Given the description of an element on the screen output the (x, y) to click on. 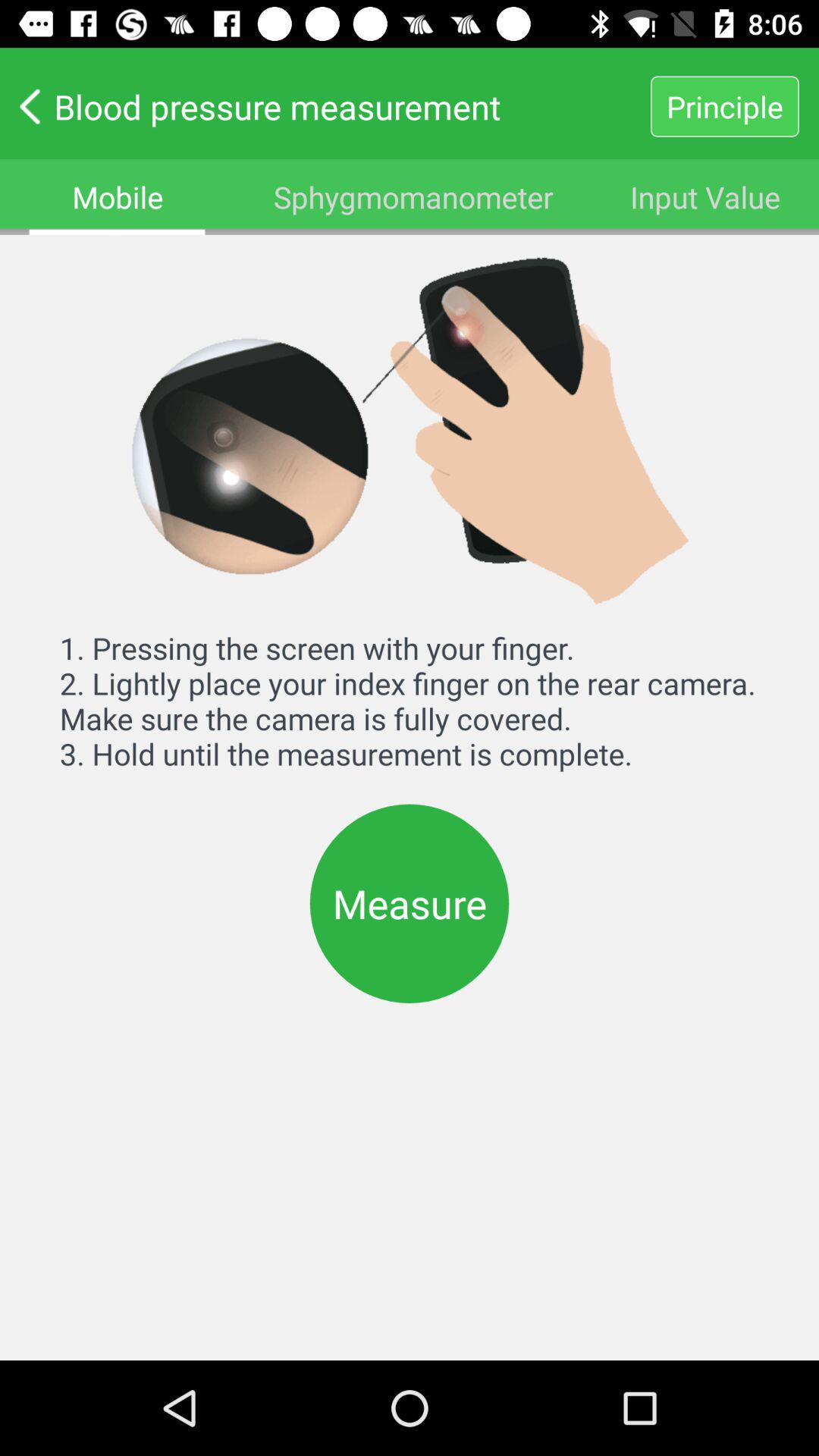
select the icon below blood pressure measurement (705, 196)
